Given the description of an element on the screen output the (x, y) to click on. 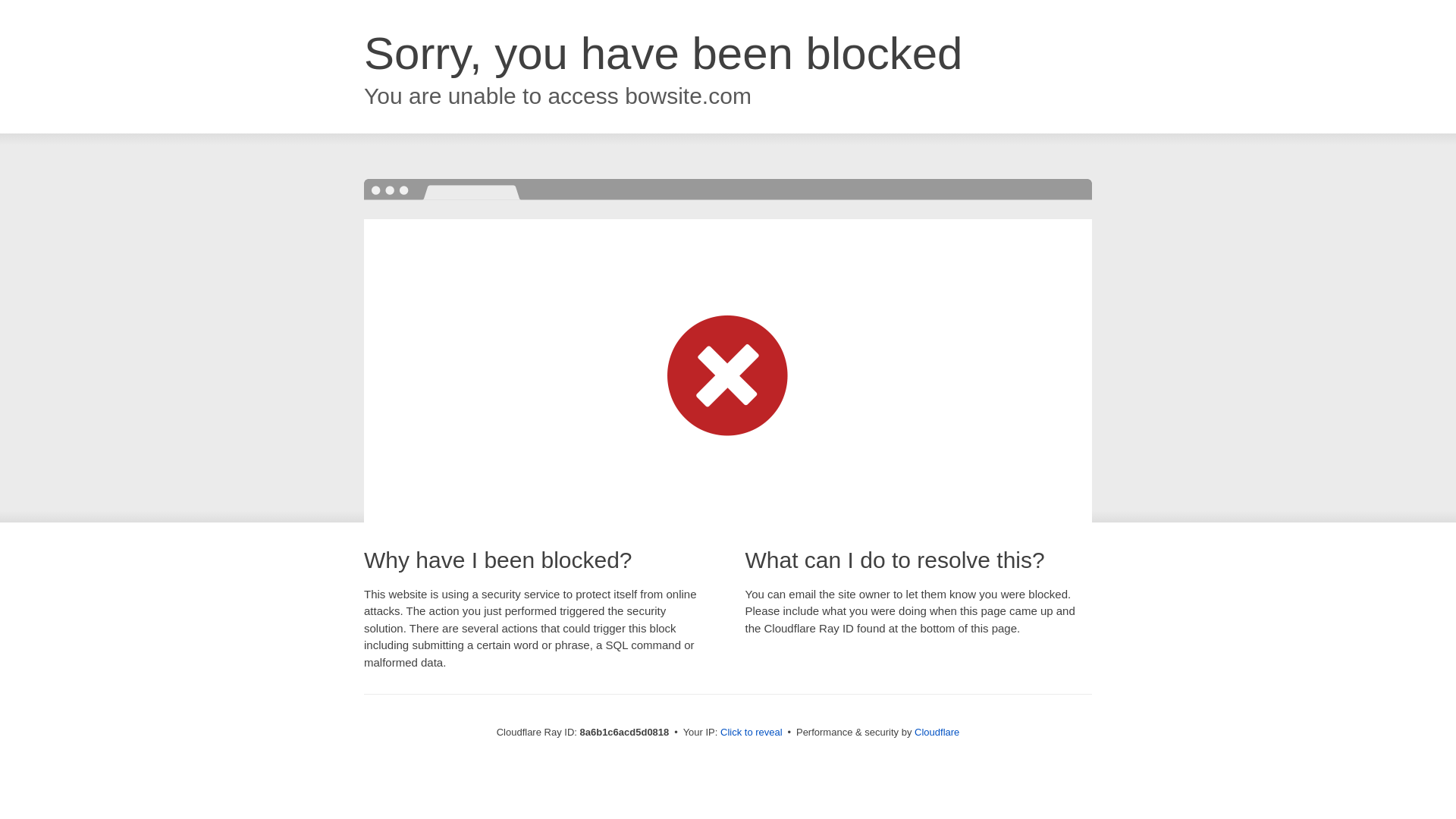
Click to reveal (751, 732)
Cloudflare (936, 731)
